Given the description of an element on the screen output the (x, y) to click on. 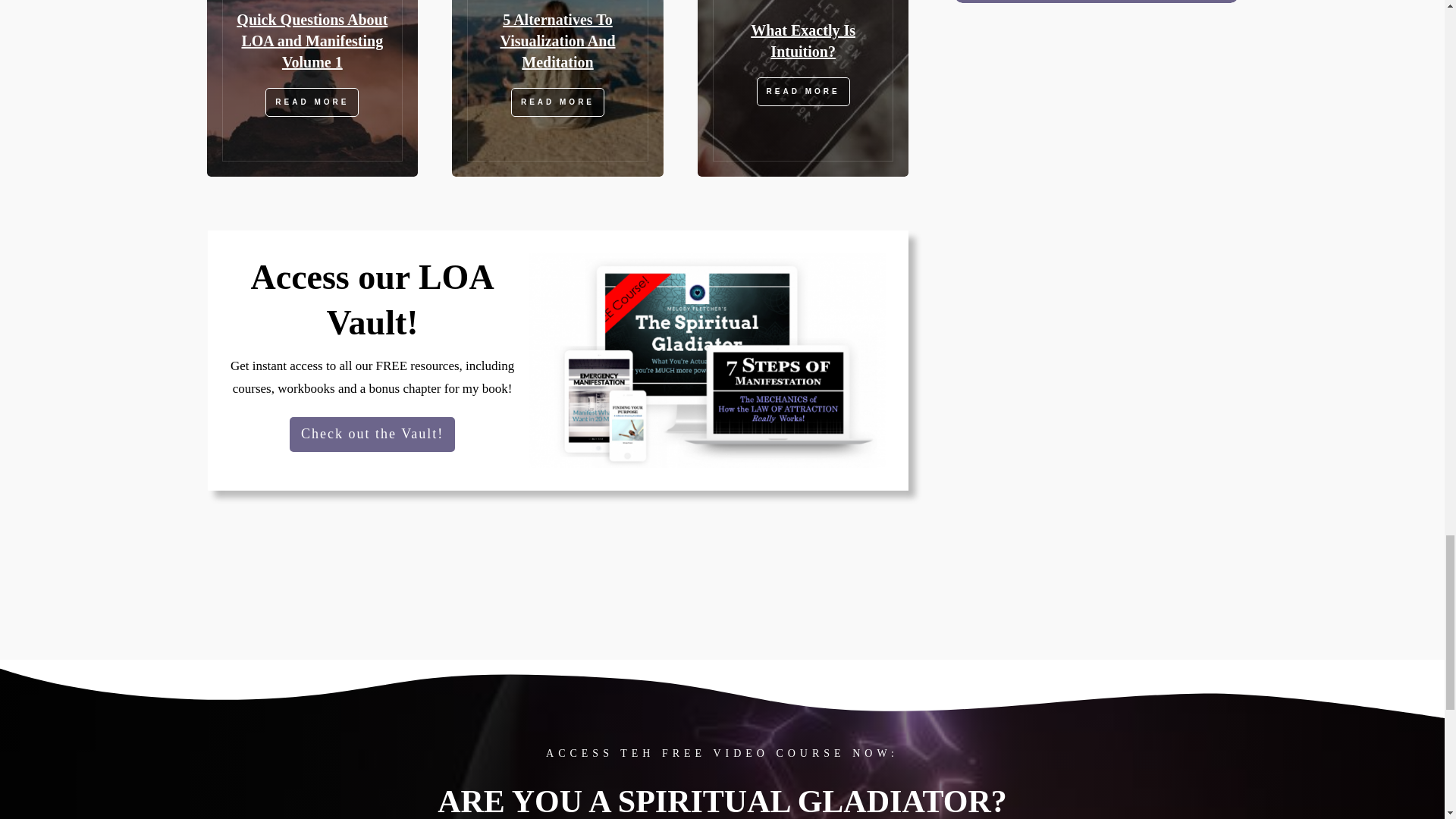
READ MORE (311, 102)
5 Alternatives To Visualization And Meditation (556, 40)
Quick Questions About LOA and Manifesting Volume 1 (311, 40)
Quick Questions About LOA and Manifesting Volume 1 (311, 40)
Check out the Vault! (371, 434)
READ MORE (803, 91)
5 Alternatives To Visualization And Meditation (556, 40)
LOA Vault Content Image (707, 359)
What Exactly Is Intuition? (803, 40)
READ MORE (557, 102)
What Exactly Is Intuition? (803, 40)
